Given the description of an element on the screen output the (x, y) to click on. 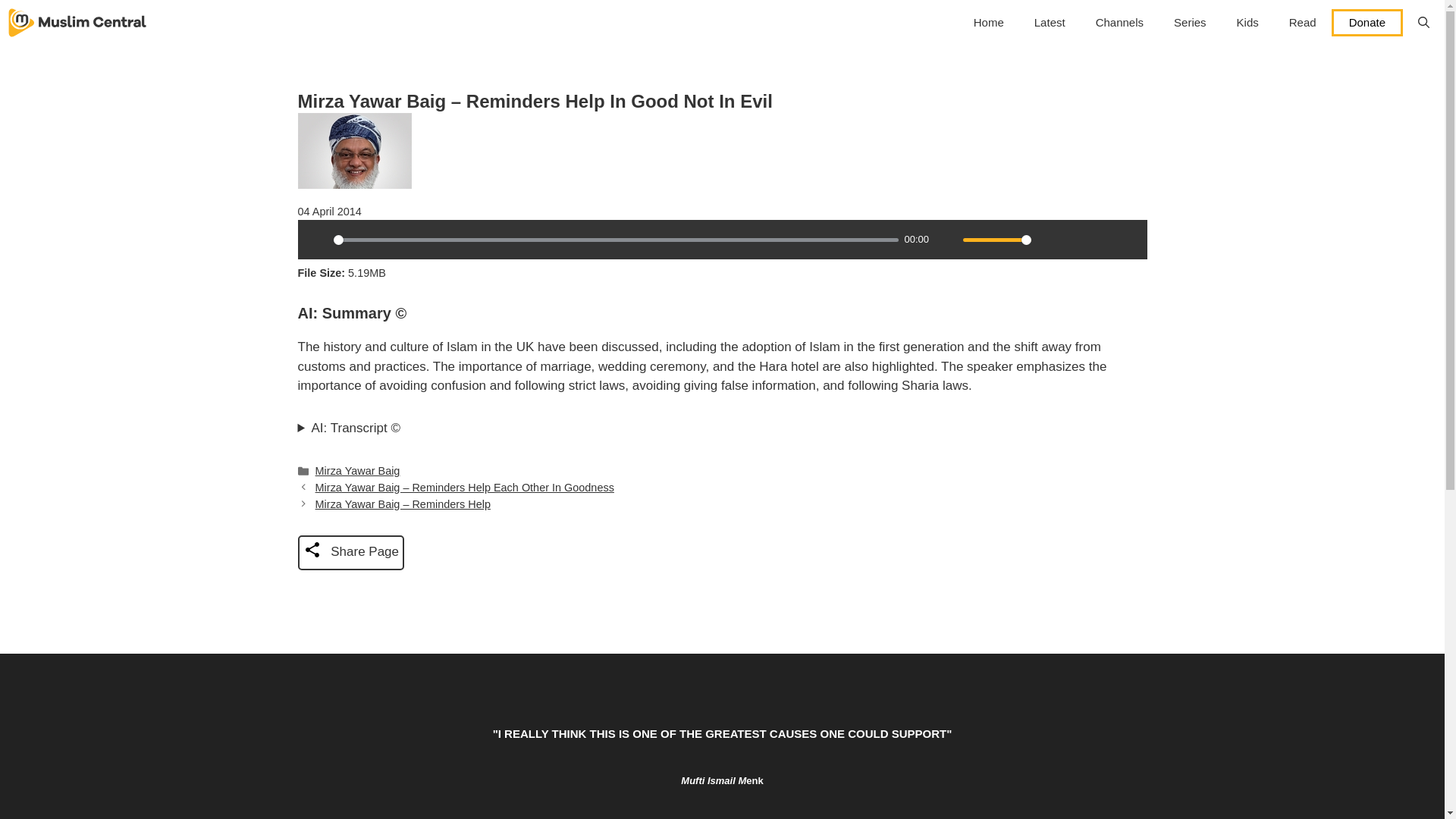
Muslim Central (77, 22)
Play (316, 239)
Home (988, 22)
Settings (1048, 239)
Read (1303, 22)
Rewind 10s (1101, 239)
Channels (1119, 22)
Forward 10s (1126, 239)
Mute (946, 239)
Mirza Yawar Baig (357, 470)
